Given the description of an element on the screen output the (x, y) to click on. 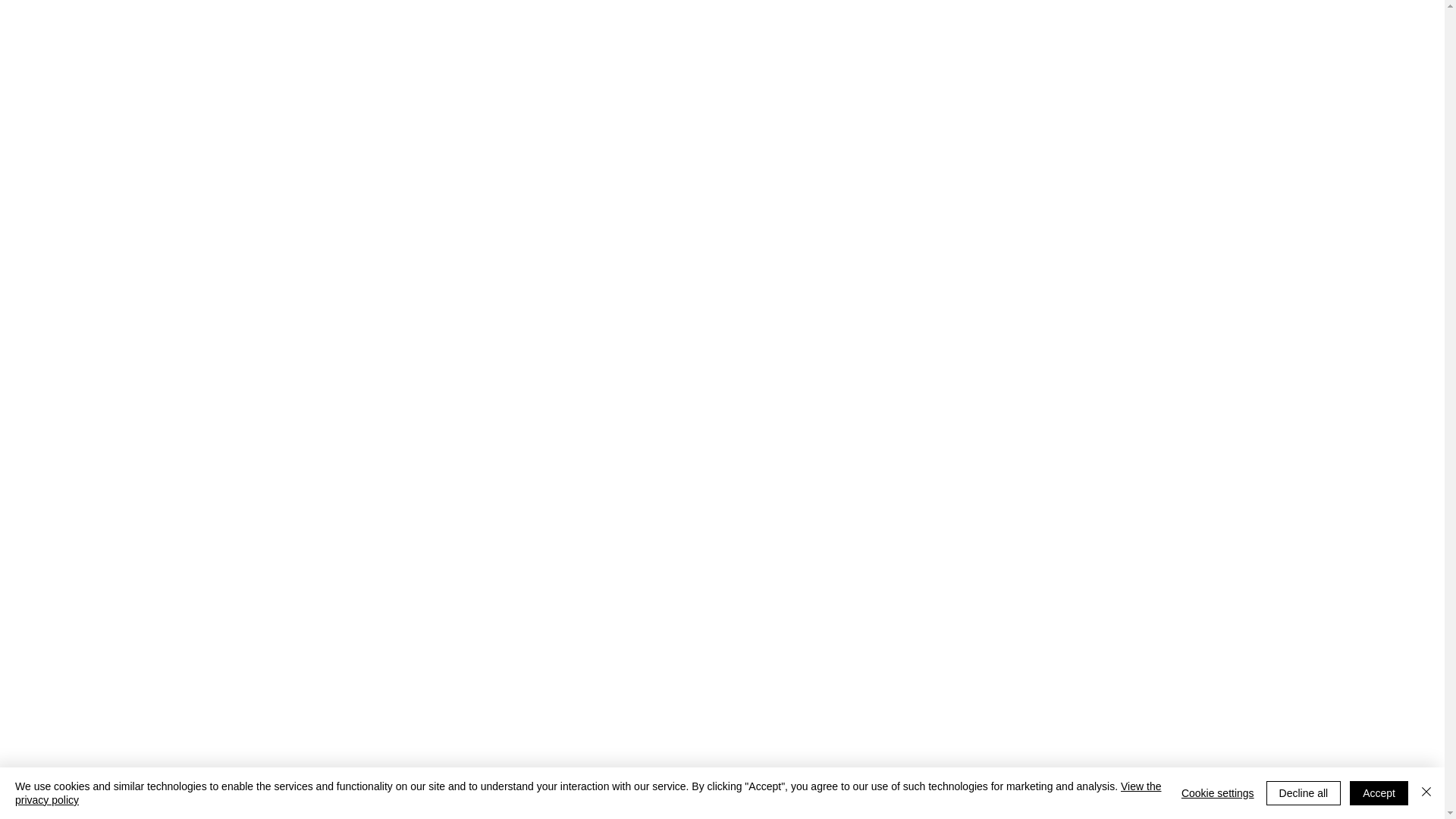
Decline all Element type: text (1303, 793)
View the privacy policy Element type: text (588, 793)
Accept Element type: text (1378, 793)
